Given the description of an element on the screen output the (x, y) to click on. 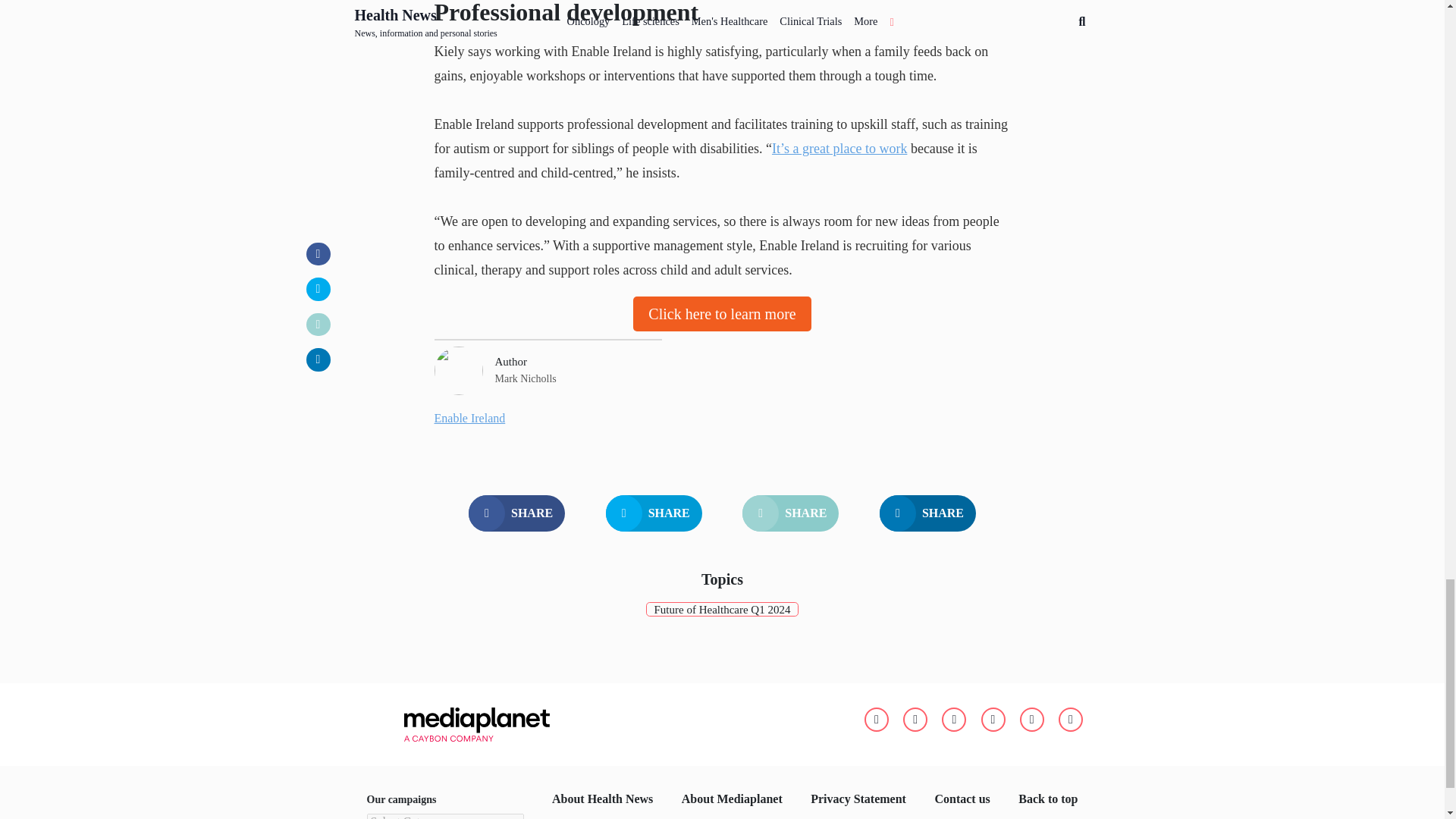
SHARE (516, 513)
SHARE (927, 513)
Enable Ireland (469, 418)
Click here to learn more (721, 313)
SHARE (653, 513)
SHARE (790, 513)
Enable Ireland (469, 418)
